Given the description of an element on the screen output the (x, y) to click on. 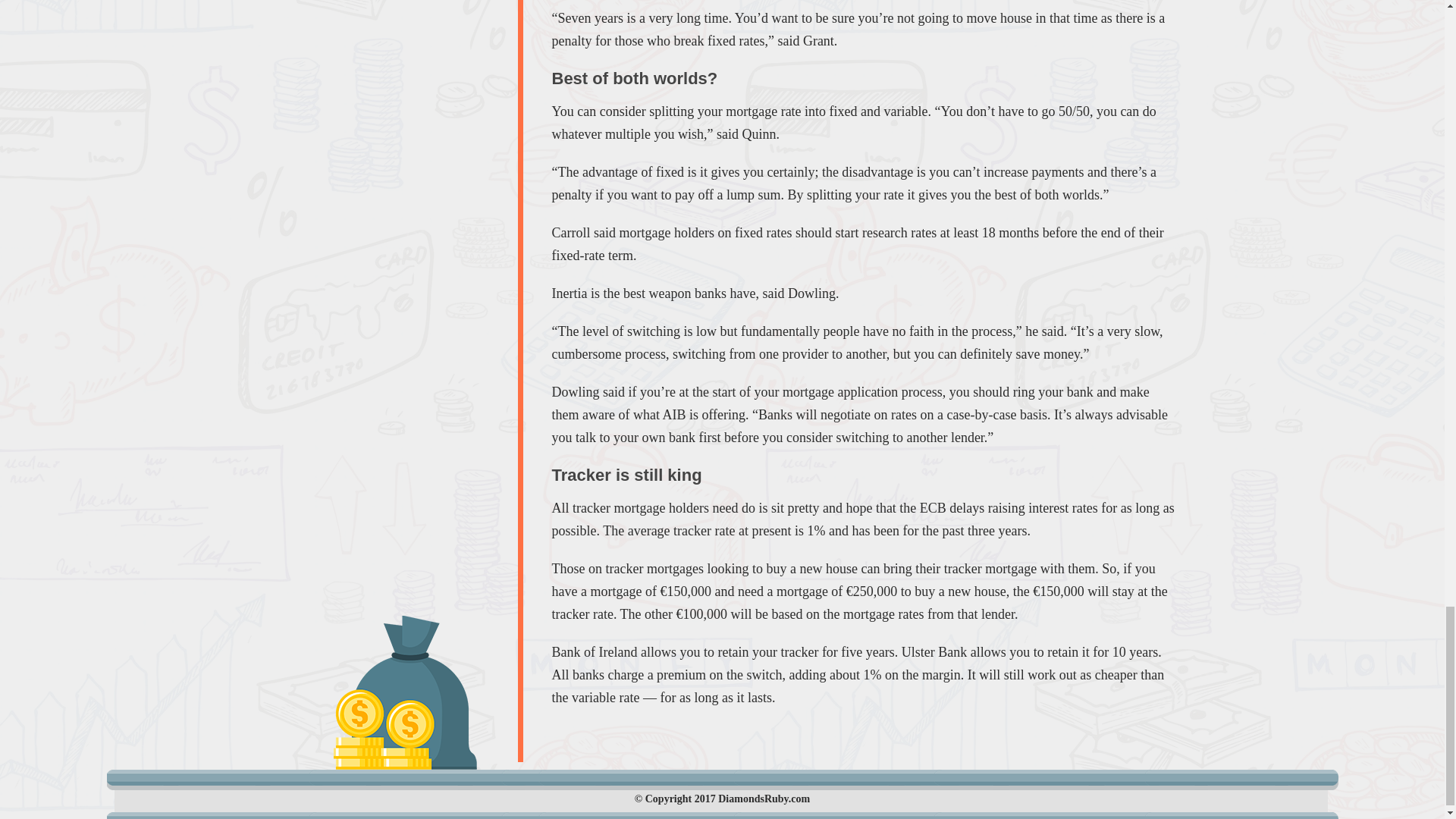
DiamondsRuby.com (763, 798)
